Given the description of an element on the screen output the (x, y) to click on. 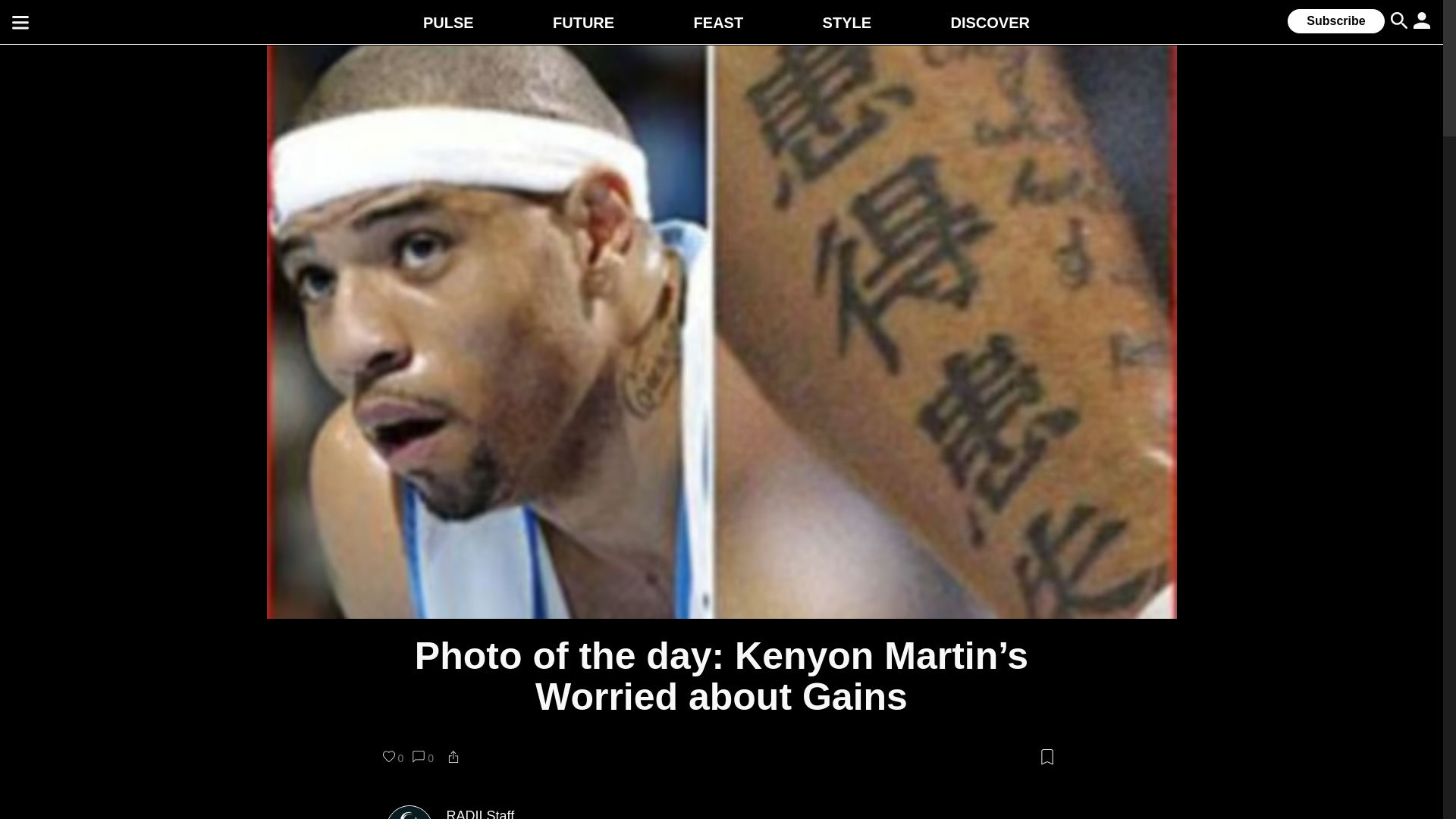
DISCOVER (989, 22)
FEAST (719, 22)
STYLE (846, 22)
Subscribe (1335, 21)
PULSE (448, 22)
RADII Staff (479, 813)
FUTURE (583, 22)
